Given the description of an element on the screen output the (x, y) to click on. 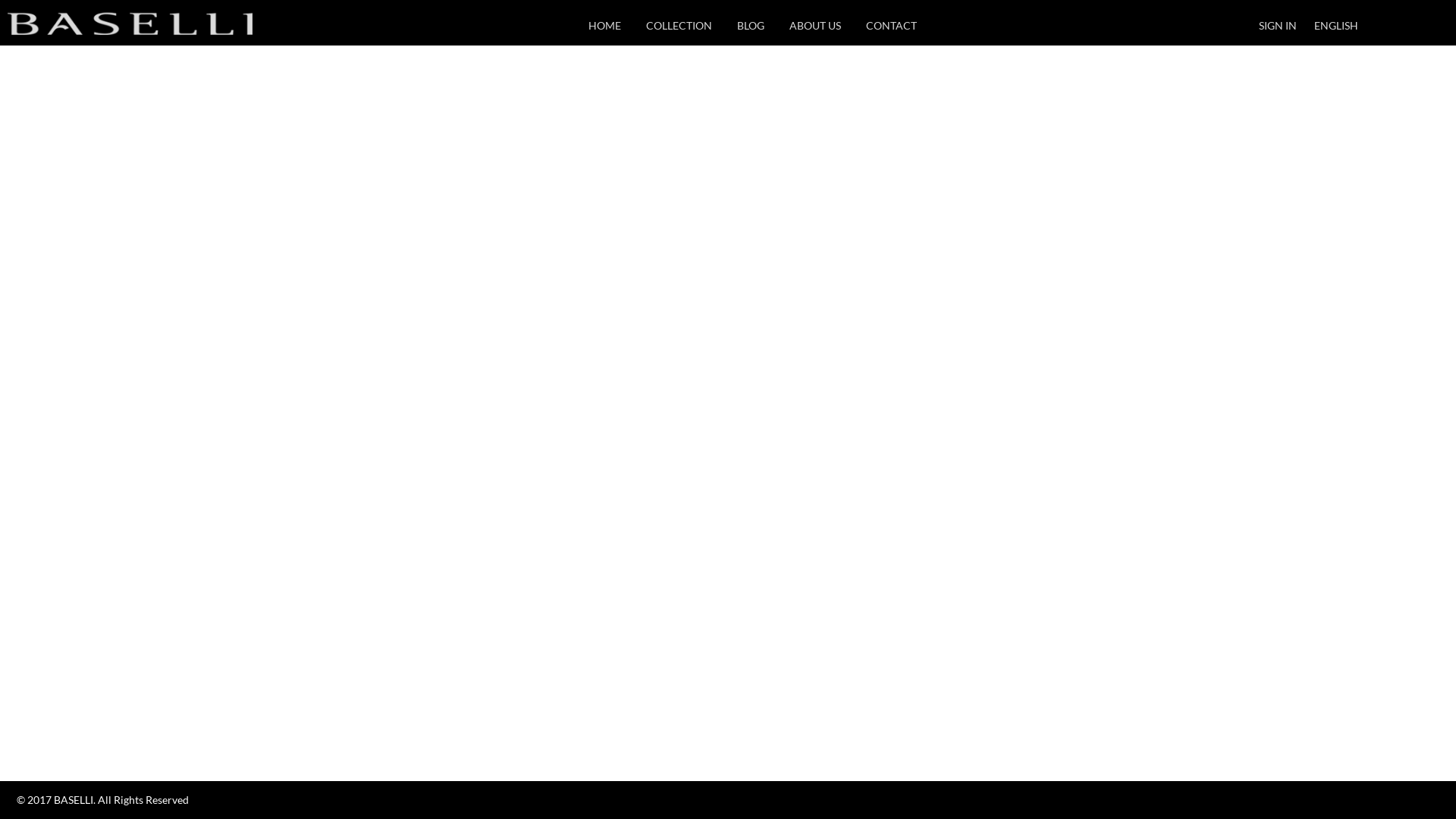
SIGN IN Element type: text (1277, 26)
HOME Element type: text (604, 26)
ABOUT US Element type: text (814, 26)
CONTACT Element type: text (891, 26)
BLOG Element type: text (750, 26)
COLLECTION Element type: text (679, 26)
